Given the description of an element on the screen output the (x, y) to click on. 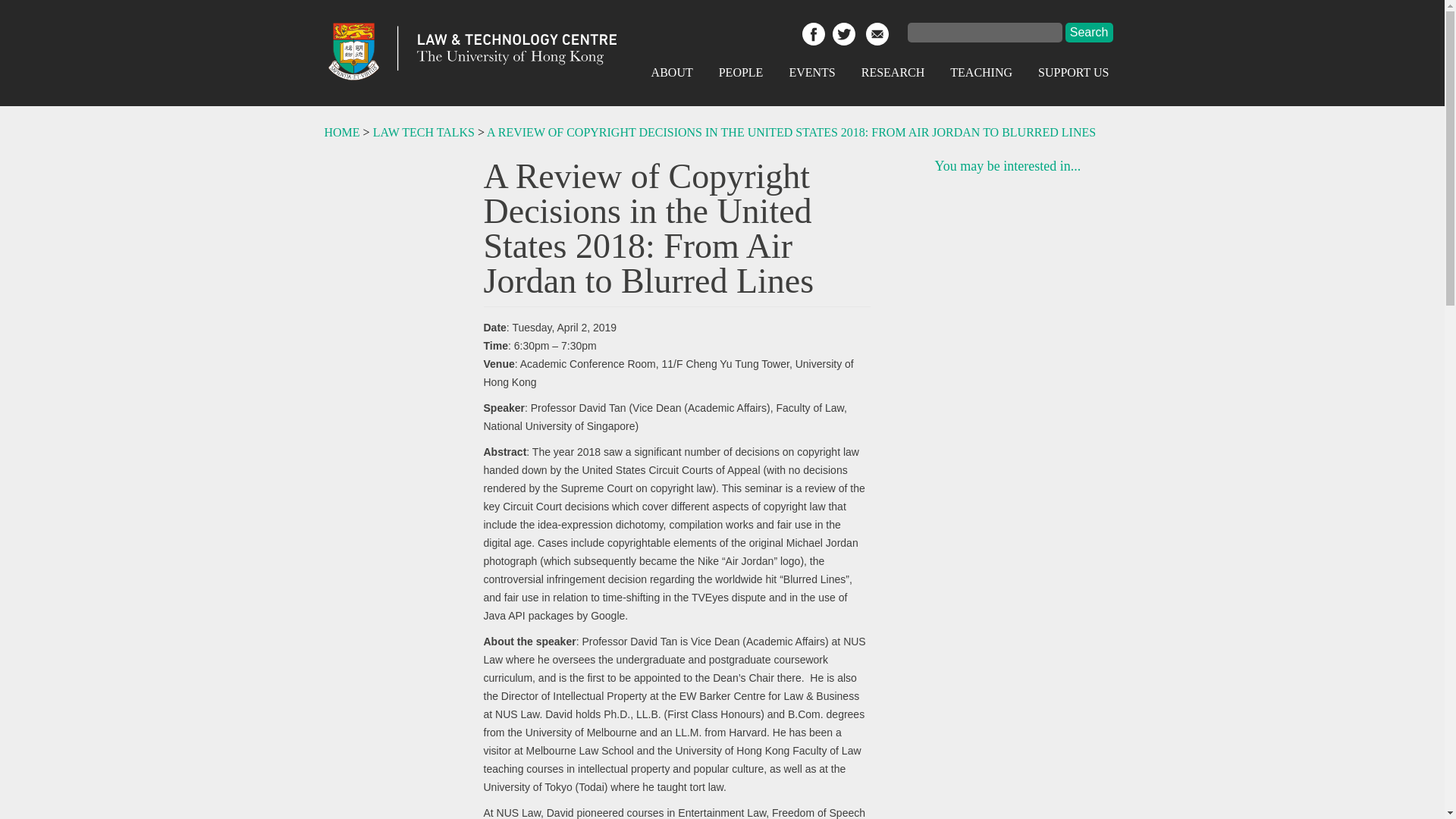
SUPPORT US (1072, 72)
EVENTS (811, 72)
RESEARCH (893, 72)
Search (1089, 32)
Go to the Law Tech Talks category archives. (423, 132)
Search (1089, 32)
LAW TECH TALKS (423, 132)
PEOPLE (740, 72)
HOME (341, 132)
TEACHING (981, 72)
ABOUT (672, 72)
